Given the description of an element on the screen output the (x, y) to click on. 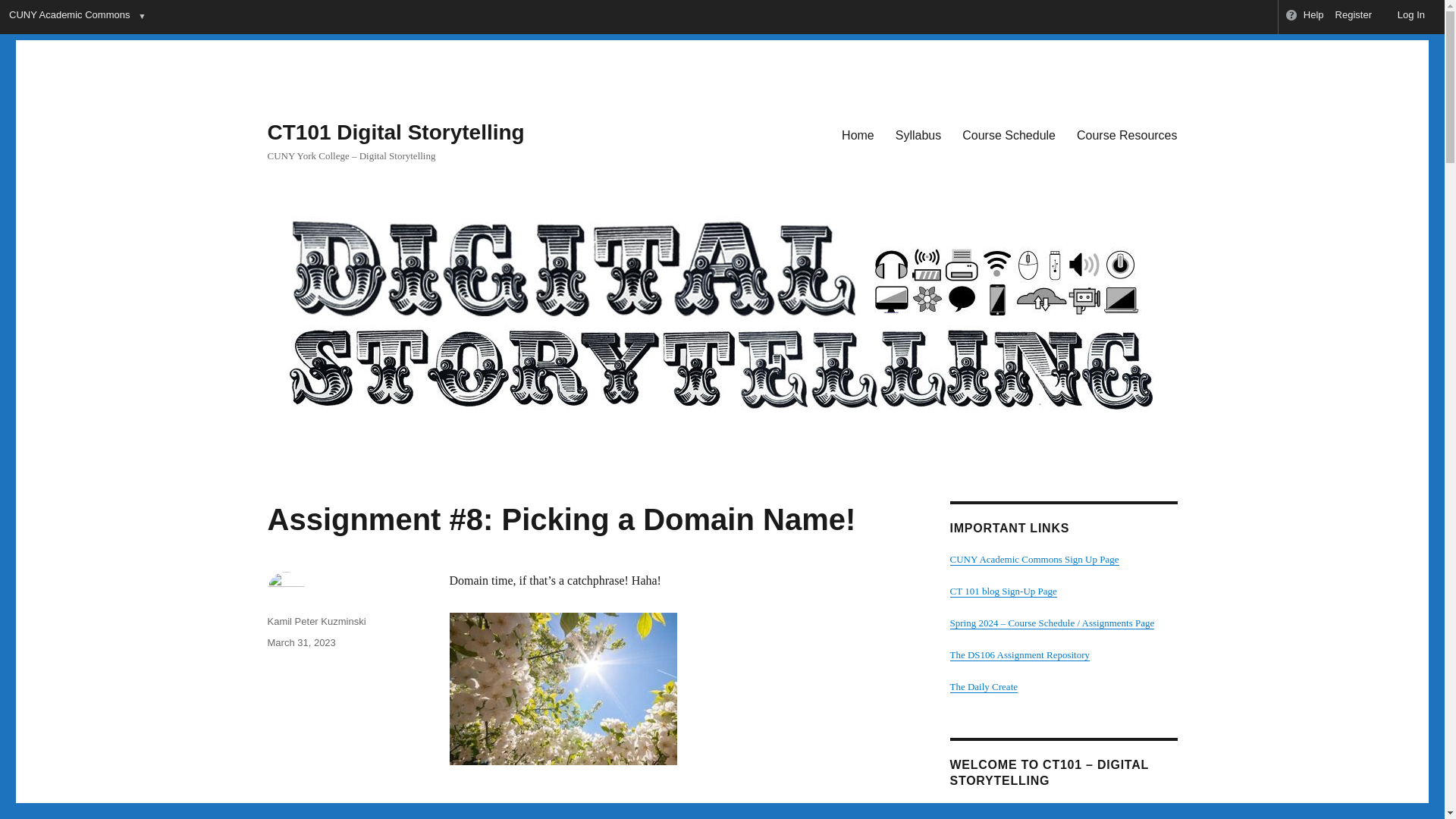
Home (858, 134)
Syllabus (918, 134)
CUNY Academic Commons (68, 17)
Help (1304, 17)
Kamil Peter Kuzminski (315, 621)
Course Resources (1126, 134)
March 31, 2023 (300, 642)
Course Schedule (1008, 134)
Log In (1404, 17)
CT101 Digital Storytelling (395, 132)
CT 101 blog Sign-Up Page (1003, 591)
Register (1353, 17)
CUNY Academic Commons Sign Up Page (1033, 559)
The DS106 Assignment Repository (1019, 654)
